Given the description of an element on the screen output the (x, y) to click on. 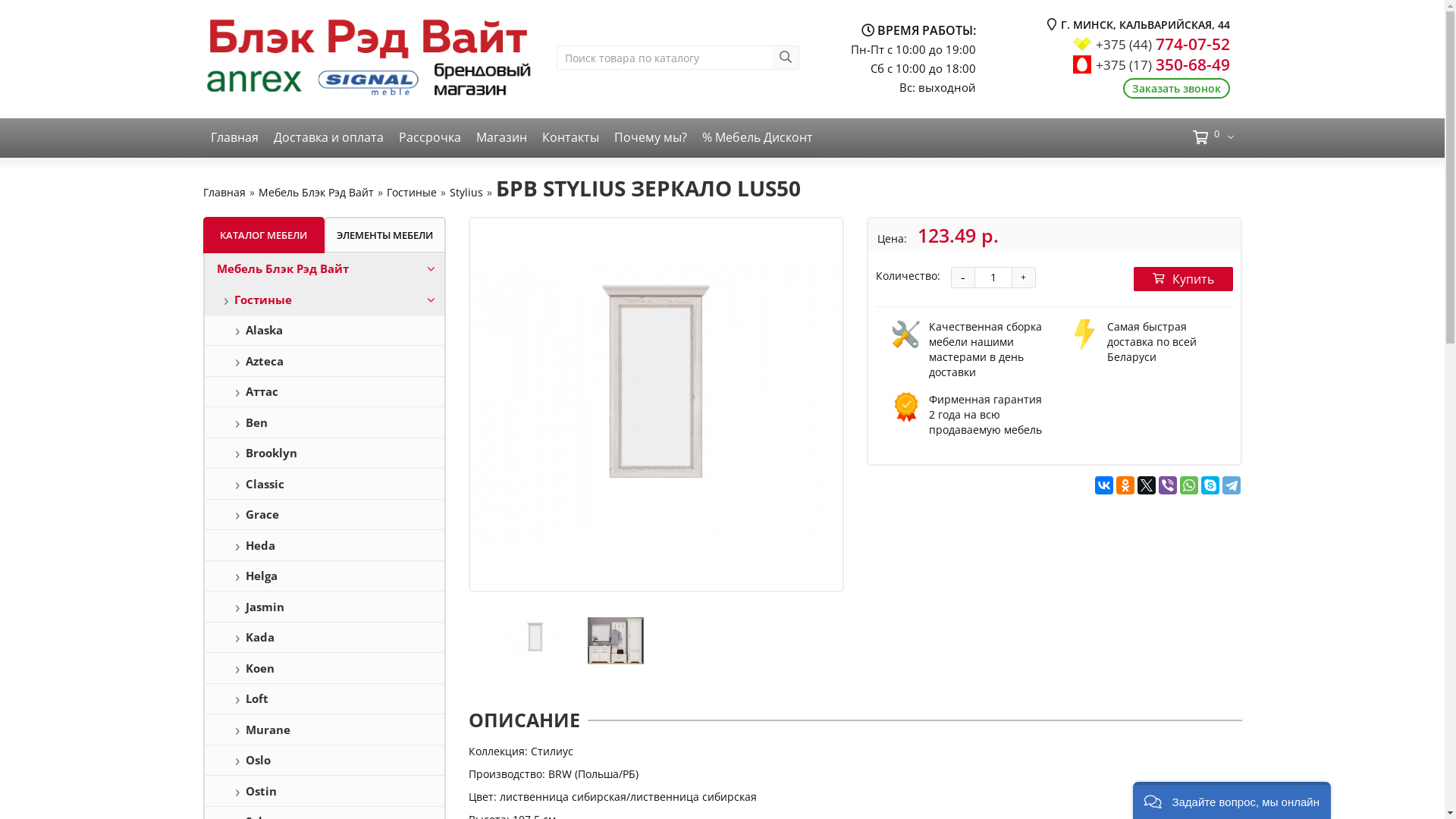
Oslo Element type: text (324, 760)
Twitter Element type: hover (1146, 485)
Stylius Element type: text (465, 192)
Kada Element type: text (324, 637)
+375 (17) 350-68-49 Element type: text (1162, 64)
Koen Element type: text (324, 667)
Murane Element type: text (324, 729)
Azteca Element type: text (324, 360)
+ Element type: text (1022, 277)
Telegram Element type: hover (1231, 485)
0 Element type: text (1209, 137)
Ostin Element type: text (324, 790)
Classic Element type: text (324, 483)
Brooklyn Element type: text (324, 453)
Mebel44.by Element type: hover (368, 59)
Loft Element type: text (324, 699)
Ben Element type: text (324, 422)
Alaska Element type: text (324, 330)
Skype Element type: hover (1210, 485)
Helga Element type: text (324, 576)
Viber Element type: hover (1167, 485)
Grace Element type: text (324, 514)
+375 (44) 774-07-52 Element type: text (1162, 43)
Jasmin Element type: text (324, 606)
Heda Element type: text (324, 545)
- Element type: text (961, 277)
WhatsApp Element type: hover (1188, 485)
